Given the description of an element on the screen output the (x, y) to click on. 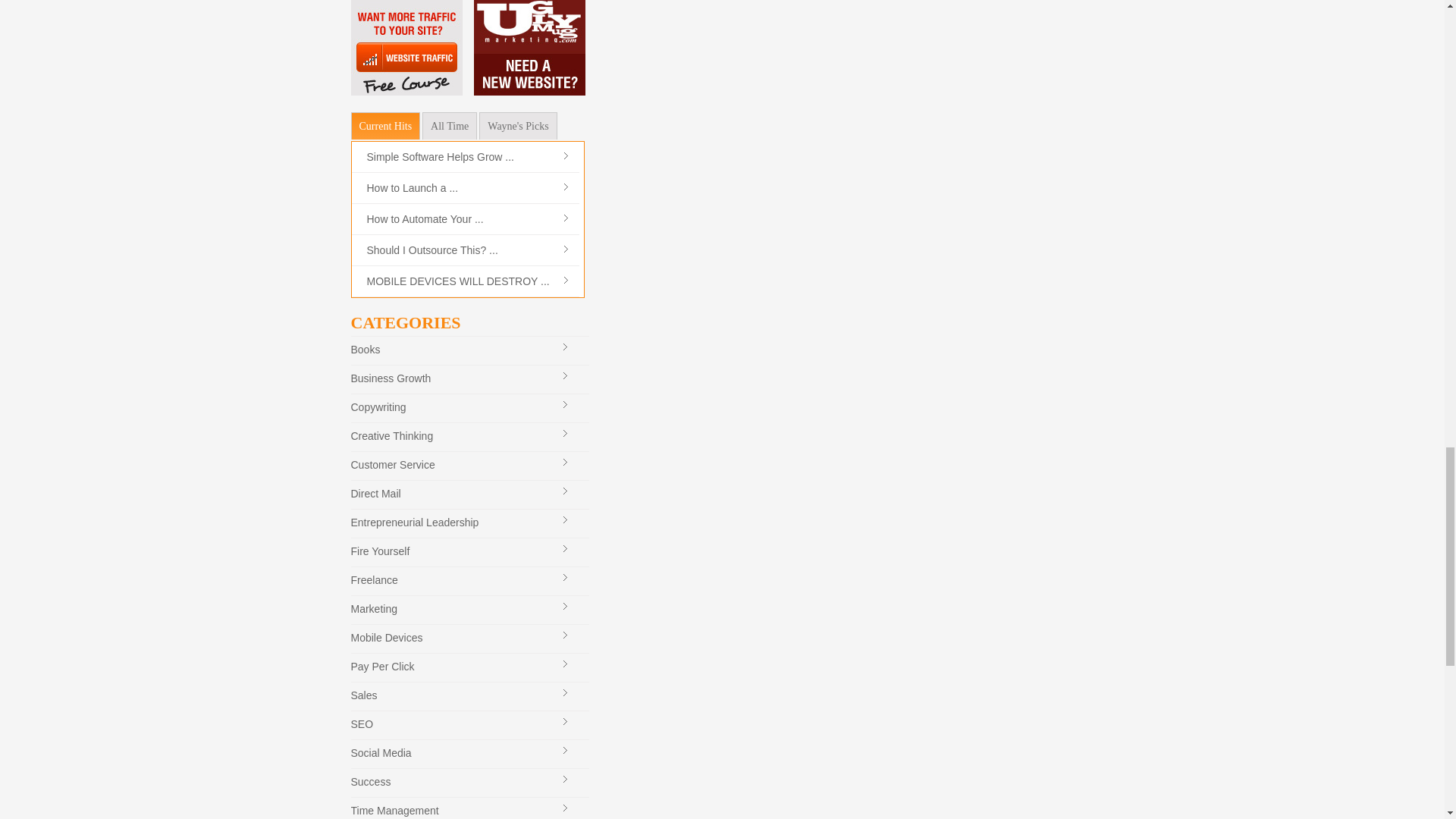
Simple Software Helps Grow ... (440, 156)
Current Hits (385, 125)
How to Launch a ... (412, 187)
All Time (449, 125)
Wayne's Picks (517, 125)
How to Automate Your ... (424, 218)
